Given the description of an element on the screen output the (x, y) to click on. 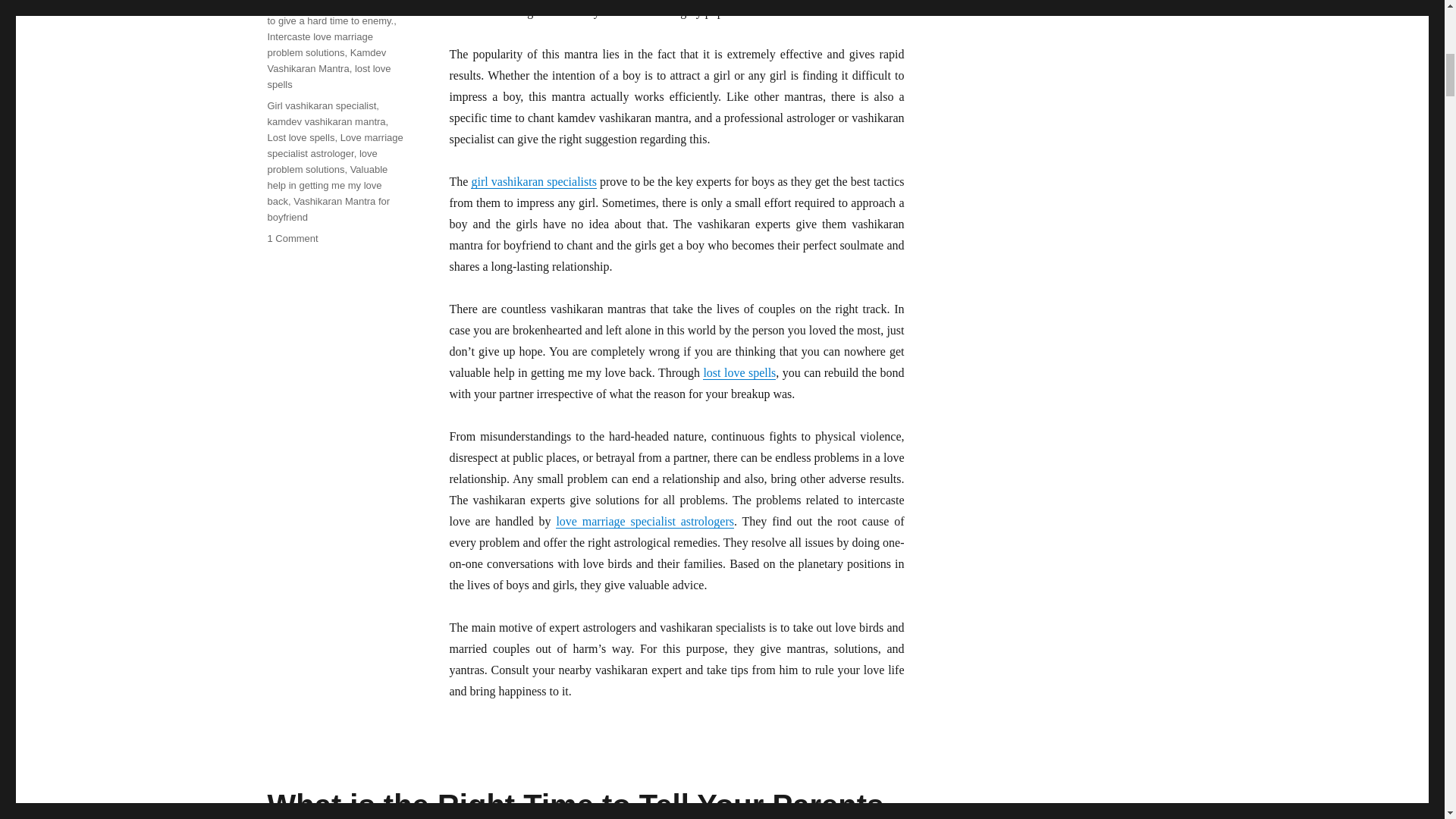
Valuable help in getting me my love back (326, 185)
kamdev vashikaran mantra (325, 121)
how to give a hard time to enemy (329, 5)
how to give a hard time to enemy. (334, 13)
girl vashikaran specialists (532, 181)
Girl vashikaran specialist (320, 105)
love marriage specialist astrologers (644, 521)
love problem solutions (321, 161)
lost love spells (739, 372)
Kamdev Vashikaran Mantra (325, 60)
Intercaste love marriage problem solutions (319, 44)
lost love spells (328, 76)
Love marriage specialist astrologer (334, 144)
